Given the description of an element on the screen output the (x, y) to click on. 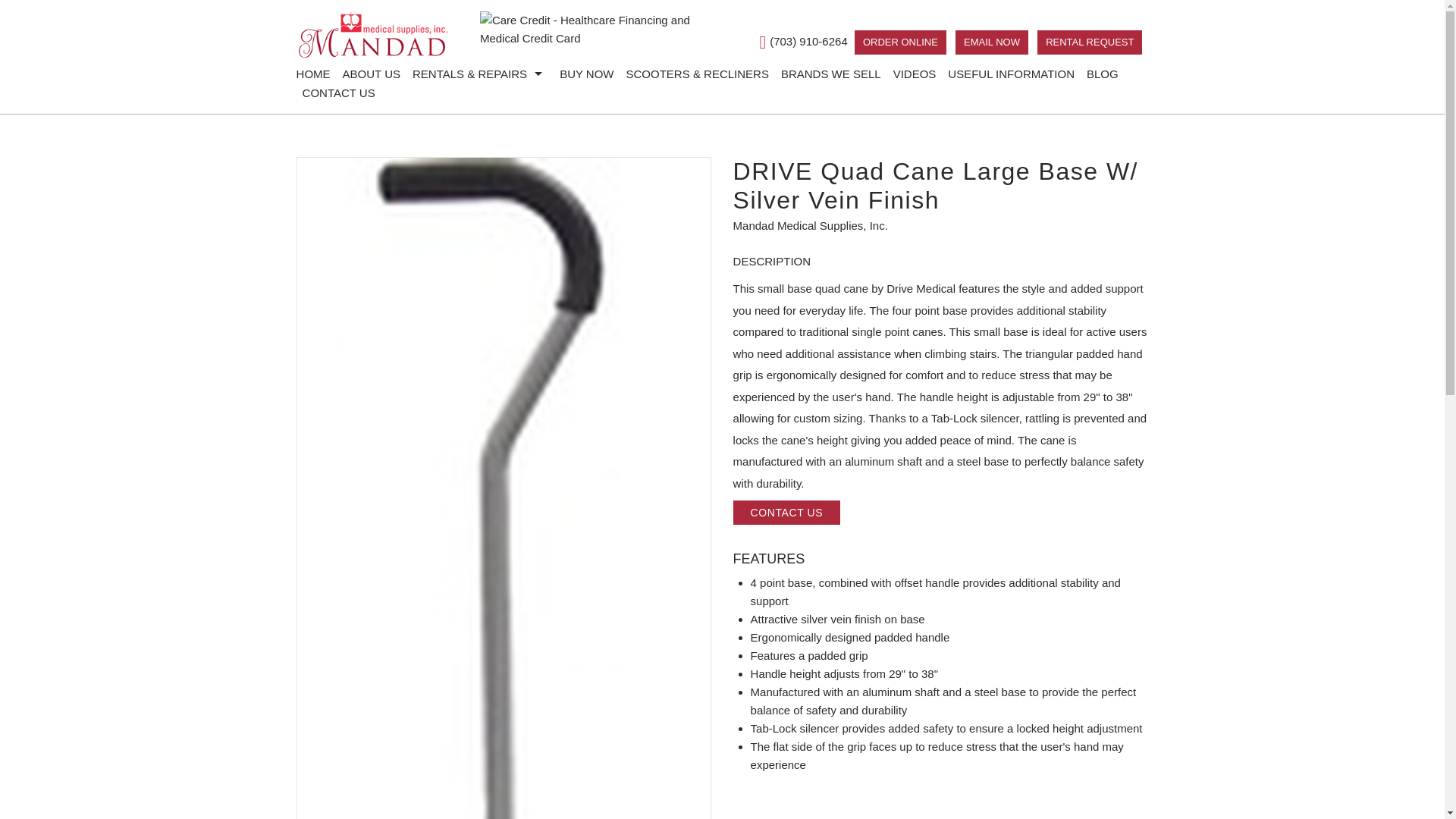
BLOG (1102, 73)
ABOUT US (371, 73)
BUY NOW (586, 73)
RENTAL REQUEST (1088, 42)
BRANDS WE SELL (830, 73)
CONTACT US (339, 92)
EMAIL NOW (991, 42)
VIDEOS (914, 73)
HOME (316, 73)
USEFUL INFORMATION (1011, 73)
ORDER ONLINE (900, 42)
